Given the description of an element on the screen output the (x, y) to click on. 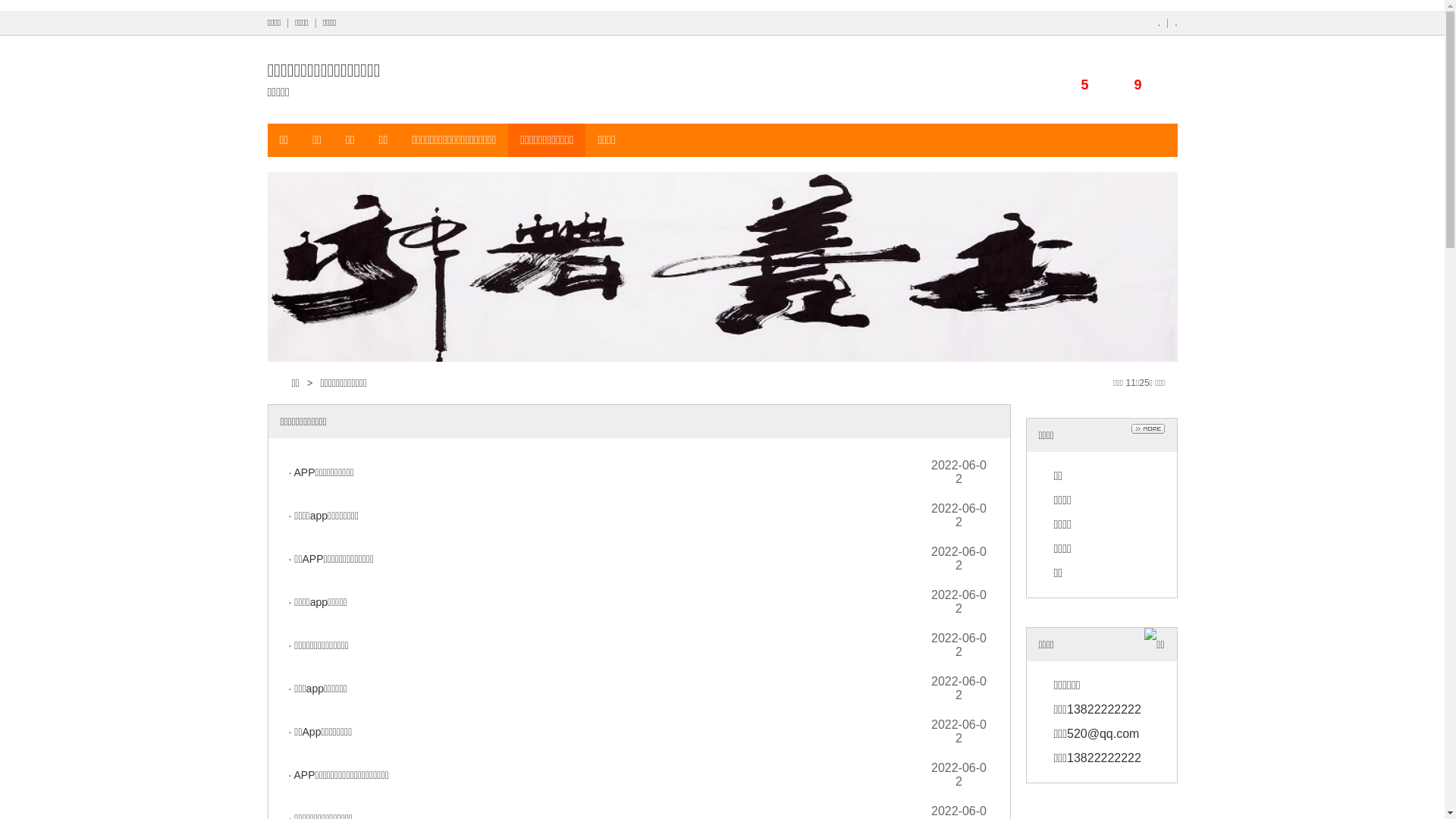
. Element type: text (1158, 22)
. Element type: text (1175, 22)
